Given the description of an element on the screen output the (x, y) to click on. 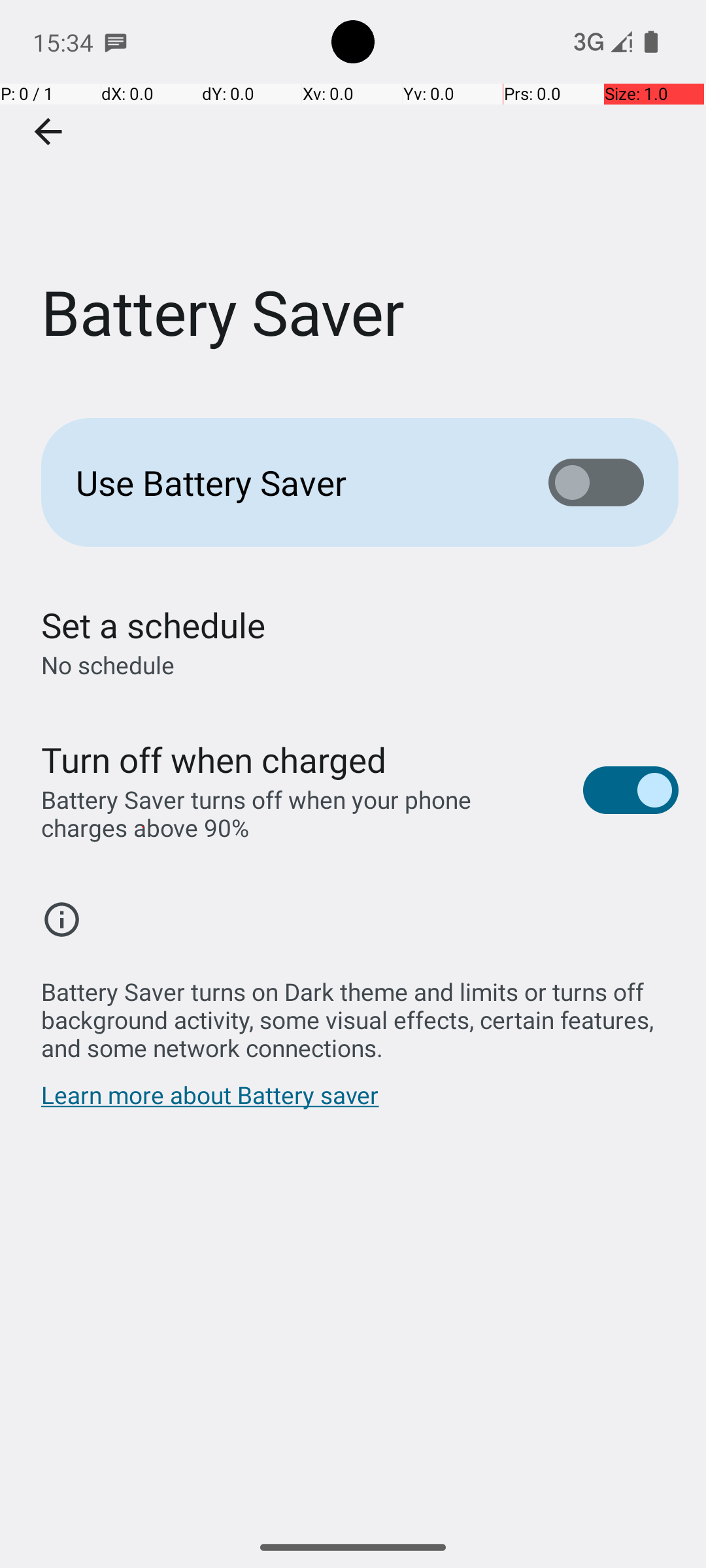
Battery Saver Element type: android.widget.FrameLayout (353, 195)
Use Battery Saver Element type: android.widget.TextView (291, 482)
Set a schedule Element type: android.widget.TextView (153, 624)
No schedule Element type: android.widget.TextView (107, 664)
Turn off when charged Element type: android.widget.TextView (213, 759)
Battery Saver turns off when your phone charges above 90% Element type: android.widget.TextView (298, 813)
Battery Saver turns on Dark theme and limits or turns off background activity, some visual effects, certain features, and some network connections. Element type: android.widget.TextView (359, 1012)
Learn more about Battery saver Element type: android.widget.TextView (210, 1101)
